Given the description of an element on the screen output the (x, y) to click on. 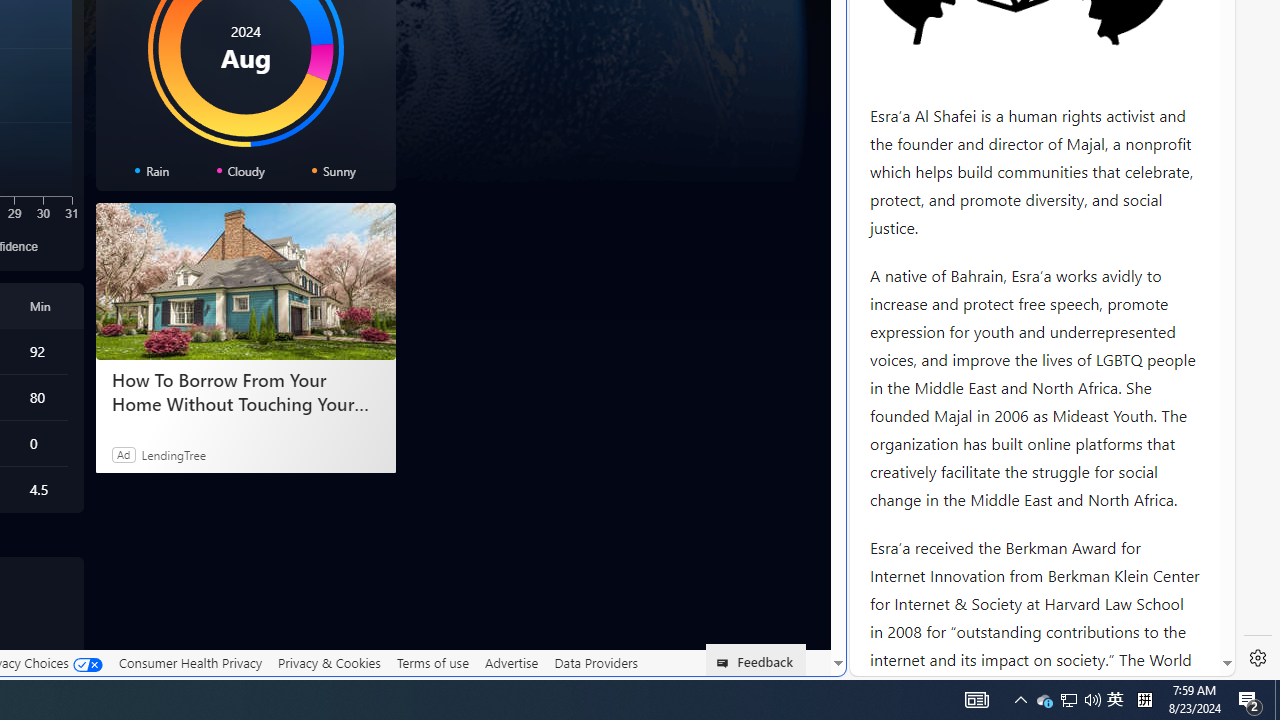
Data Providers (595, 662)
